Given the description of an element on the screen output the (x, y) to click on. 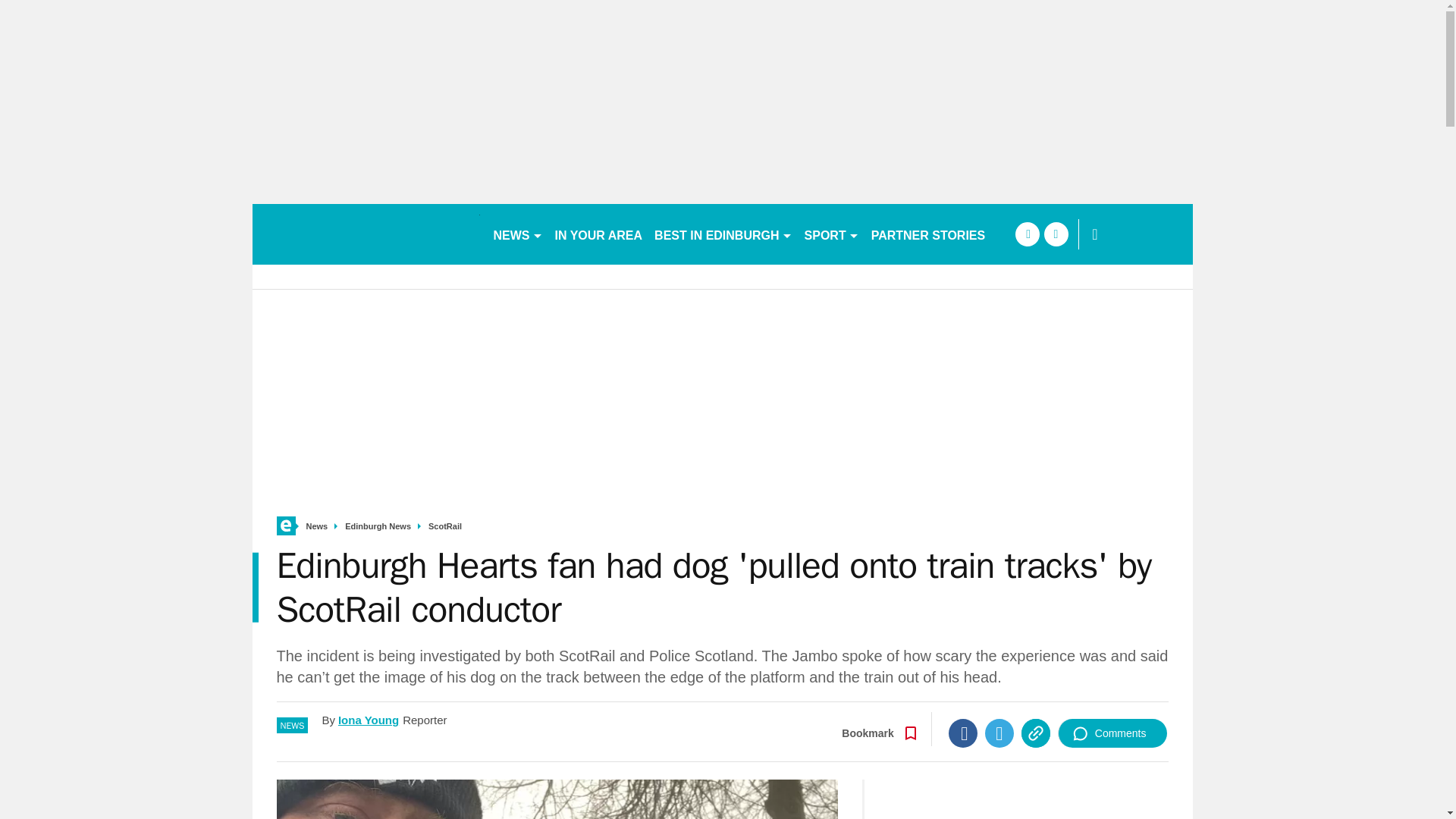
NEWS (517, 233)
VOUCHER CODES (1056, 233)
twitter (1055, 233)
PARTNER STORIES (927, 233)
IN YOUR AREA (598, 233)
BEST IN EDINBURGH (722, 233)
edinburghlive (365, 233)
Comments (1112, 733)
SPORT (830, 233)
Facebook (962, 733)
Twitter (999, 733)
facebook (1026, 233)
